Given the description of an element on the screen output the (x, y) to click on. 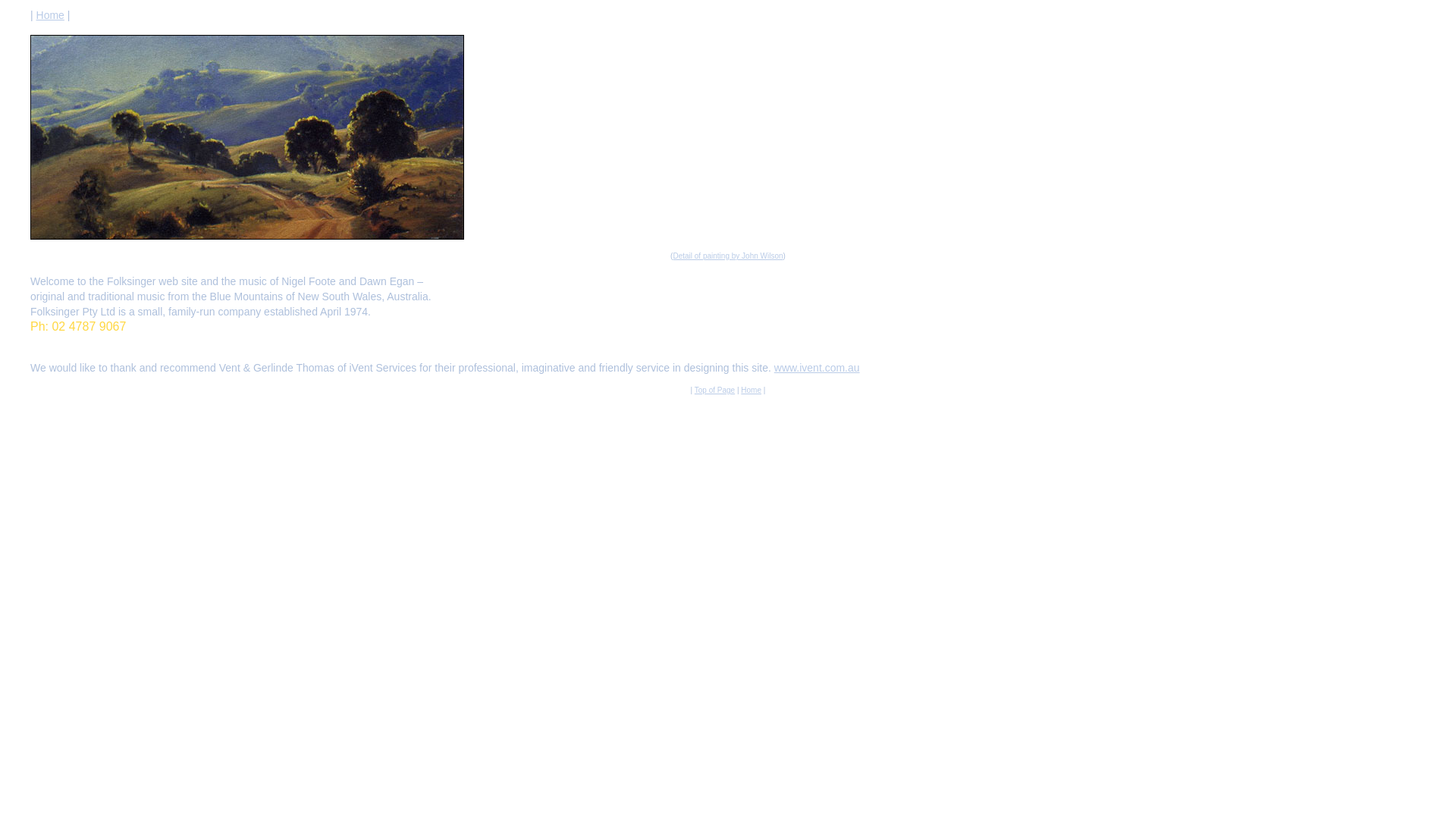
Top of Page Element type: text (714, 389)
Home Element type: text (750, 389)
www.ivent.com.au Element type: text (816, 367)
Home Element type: text (50, 15)
Detail of painting by John Wilson Element type: text (727, 255)
